Given the description of an element on the screen output the (x, y) to click on. 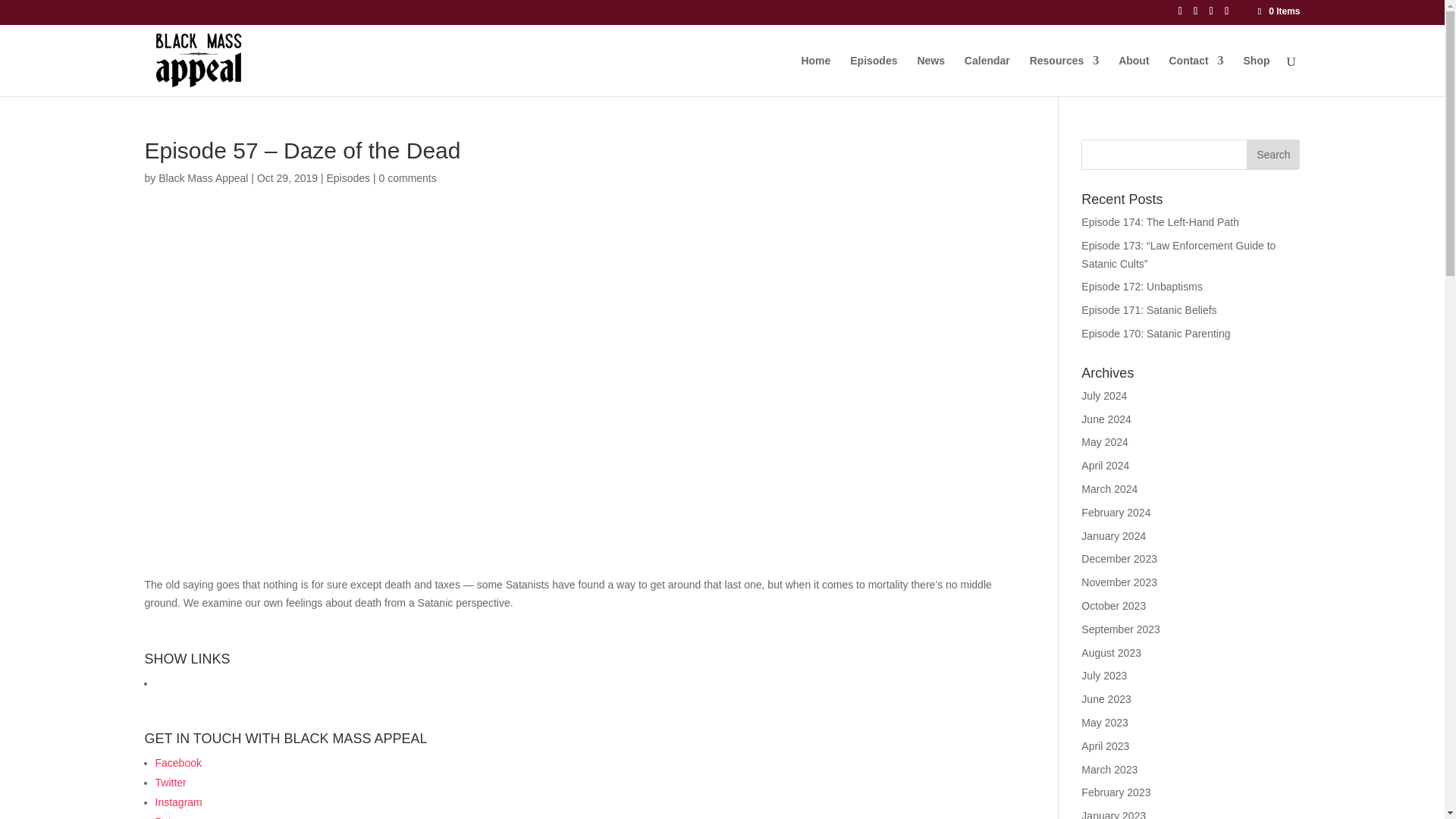
Twitter (170, 782)
0 comments (407, 177)
Facebook (177, 762)
Posts by Black Mass Appeal (202, 177)
Resources (1064, 74)
Patreon (173, 817)
Search (1273, 154)
Episodes (347, 177)
Contact (1196, 74)
Black Mass Appeal (202, 177)
Episodes (873, 74)
Instagram (178, 802)
Calendar (986, 74)
0 Items (1277, 10)
